Given the description of an element on the screen output the (x, y) to click on. 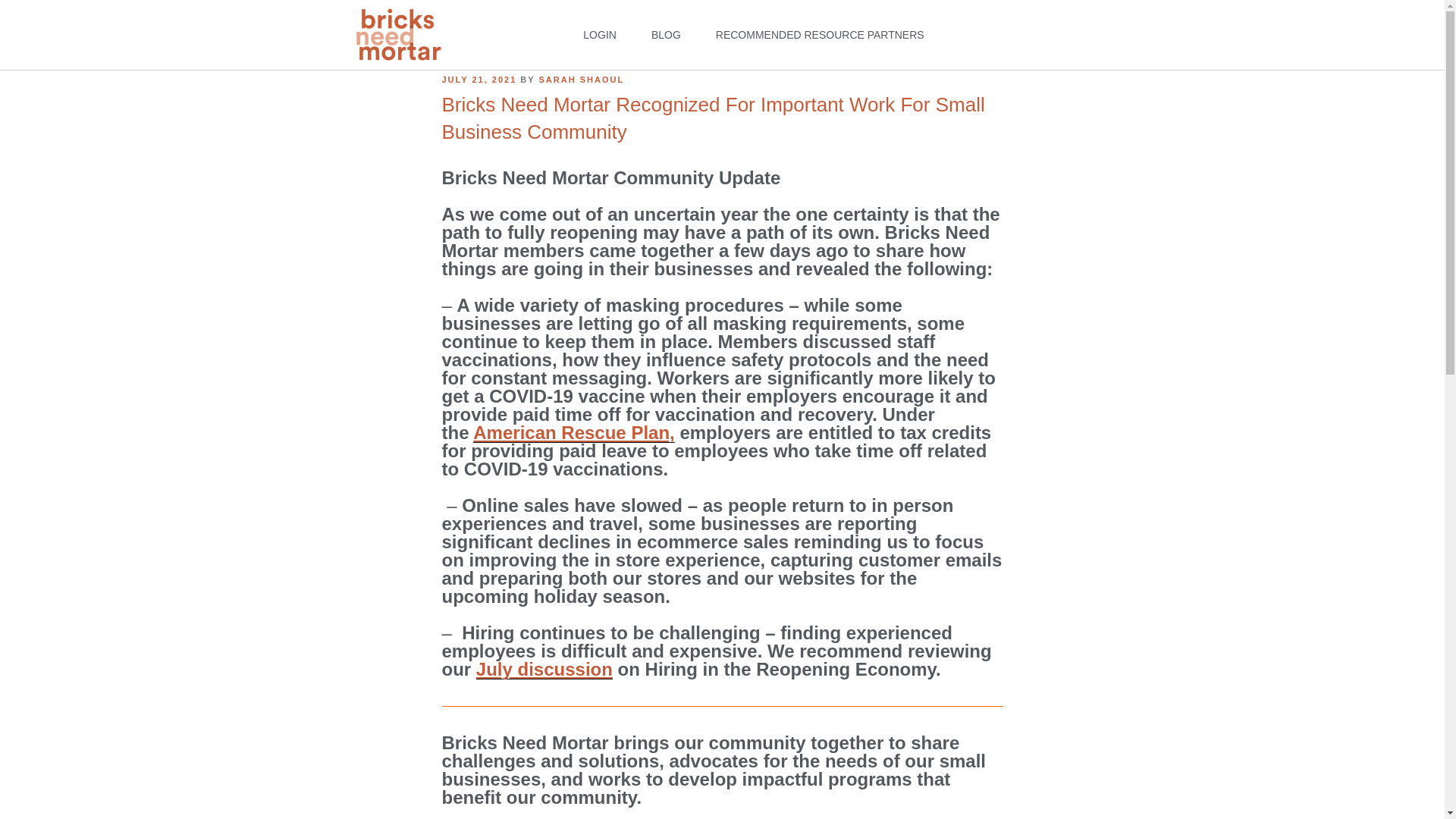
July discussion (544, 669)
JULY 21, 2021 (478, 79)
LOGIN (599, 34)
SARAH SHAOUL (581, 79)
American Rescue Plan, (573, 432)
RECOMMENDED RESOURCE PARTNERS (819, 34)
